Given the description of an element on the screen output the (x, y) to click on. 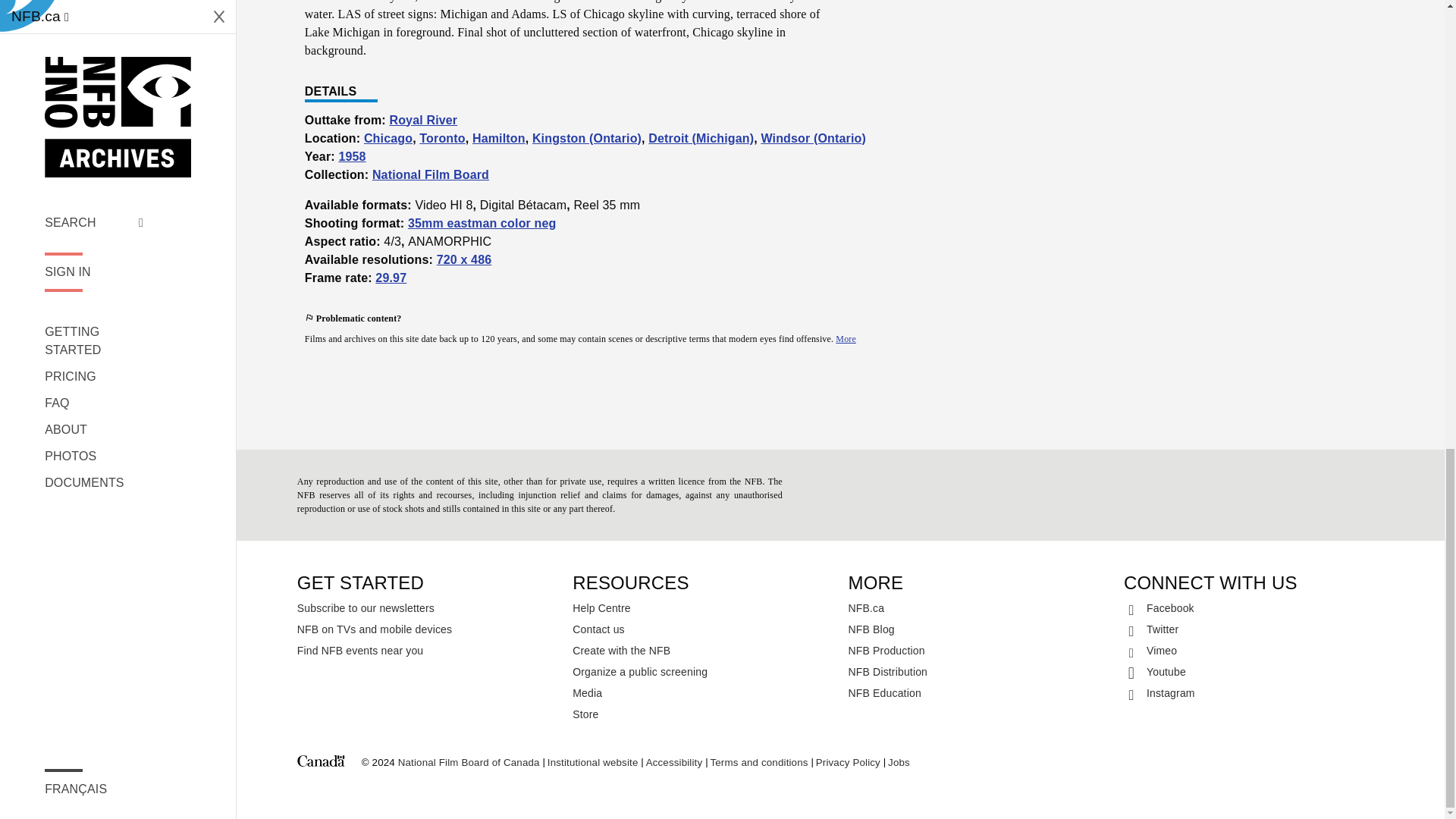
Toronto (441, 137)
Hamilton (498, 137)
Canada (321, 762)
Royal River (422, 119)
Chicago (388, 137)
